Given the description of an element on the screen output the (x, y) to click on. 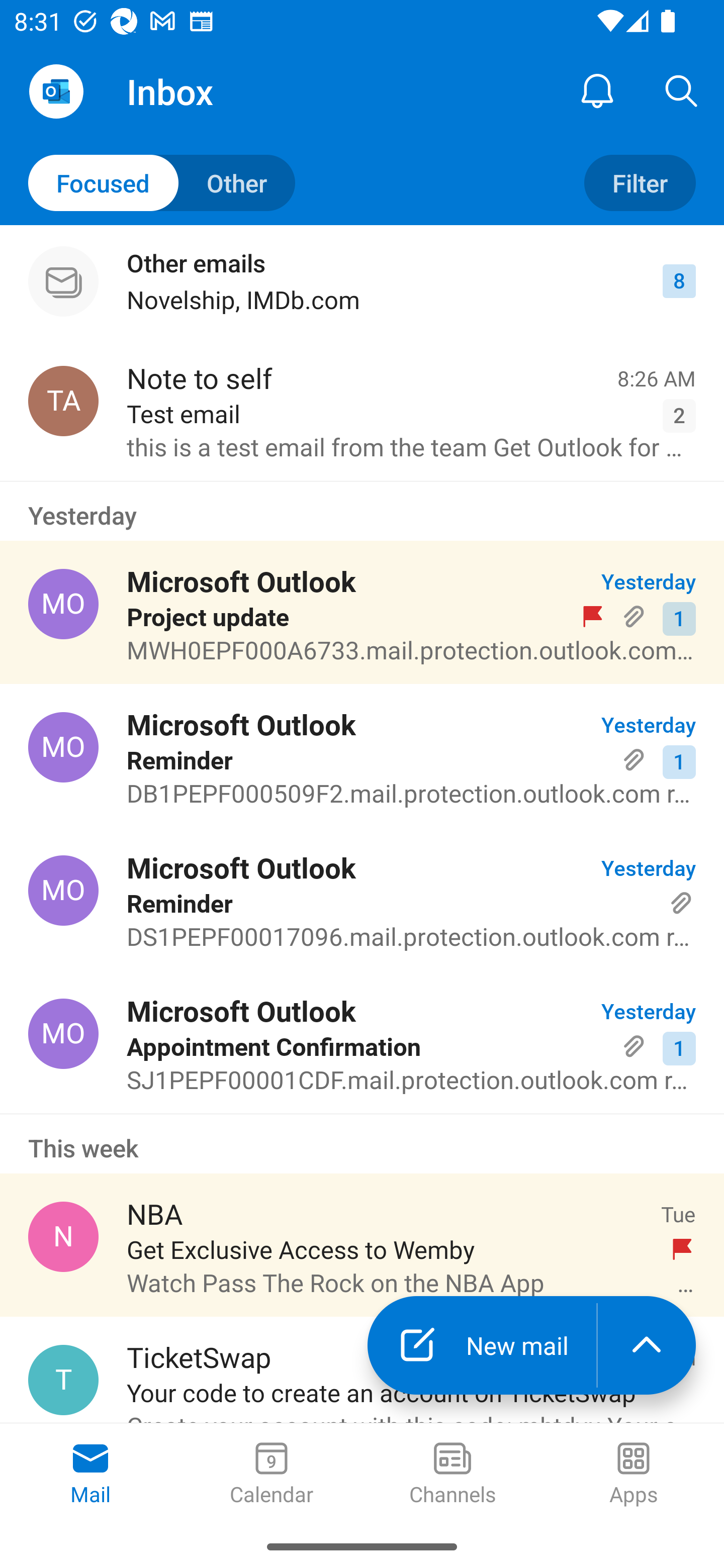
Notification Center (597, 90)
Search, ,  (681, 90)
Open Navigation Drawer (55, 91)
Toggle to other mails (161, 183)
Filter (639, 183)
Other emails Novelship, IMDb.com 8 (362, 281)
Test Appium, testappium002@outlook.com (63, 400)
NBA, NBA@email.nba.com (63, 1236)
New mail (481, 1344)
launch the extended action menu (646, 1344)
TicketSwap, info@ticketswap.com (63, 1380)
Calendar (271, 1474)
Channels (452, 1474)
Apps (633, 1474)
